Given the description of an element on the screen output the (x, y) to click on. 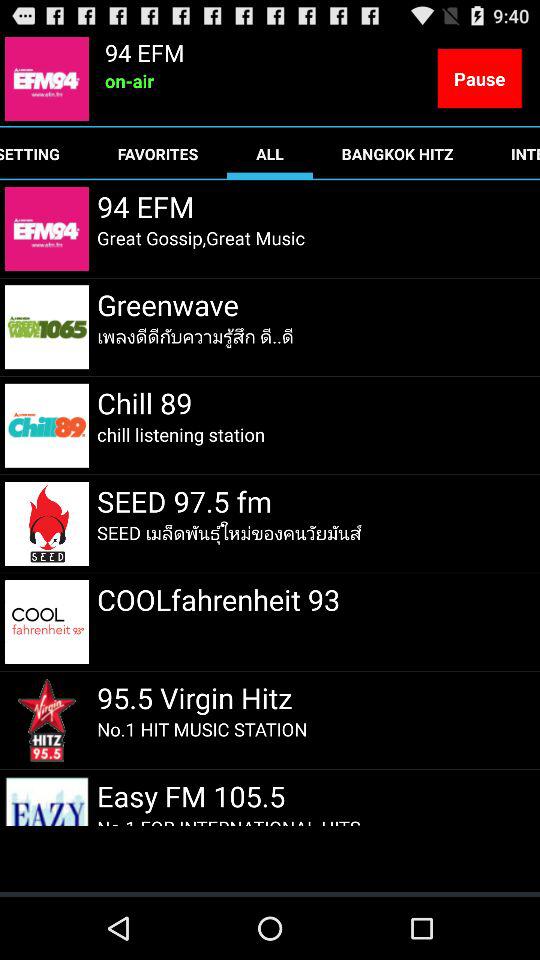
turn off item to the left of all icon (157, 153)
